Given the description of an element on the screen output the (x, y) to click on. 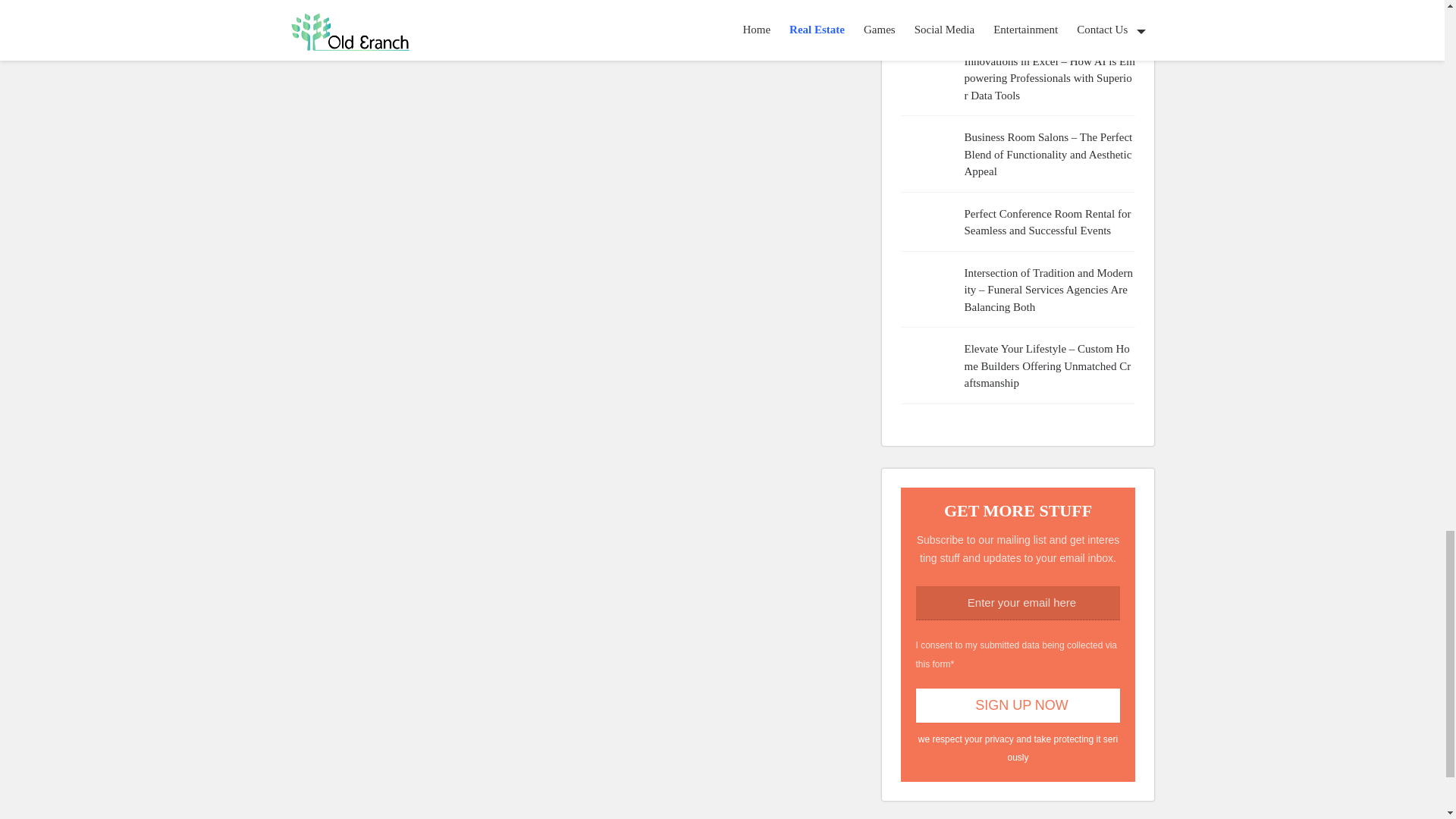
Sign Up Now (1018, 705)
